Given the description of an element on the screen output the (x, y) to click on. 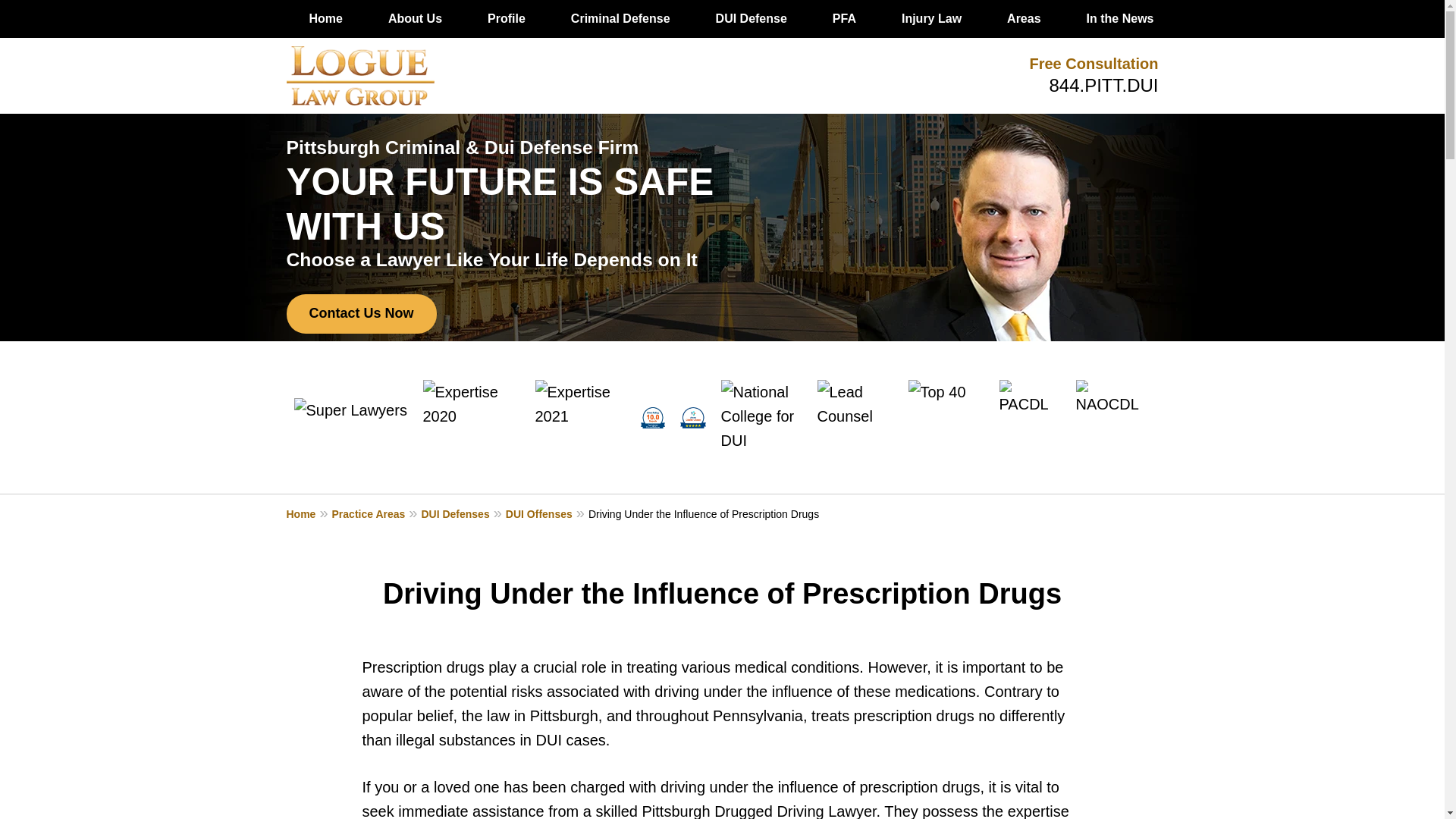
DUI Offenses (546, 513)
Blog (1343, 18)
Areas (1023, 18)
Contact Us Now (361, 313)
Client Reviews (1241, 18)
Criminal Defense (620, 18)
Free Consultation (1093, 63)
Practice Areas (376, 513)
Home (308, 513)
In the News (1120, 18)
